Given the description of an element on the screen output the (x, y) to click on. 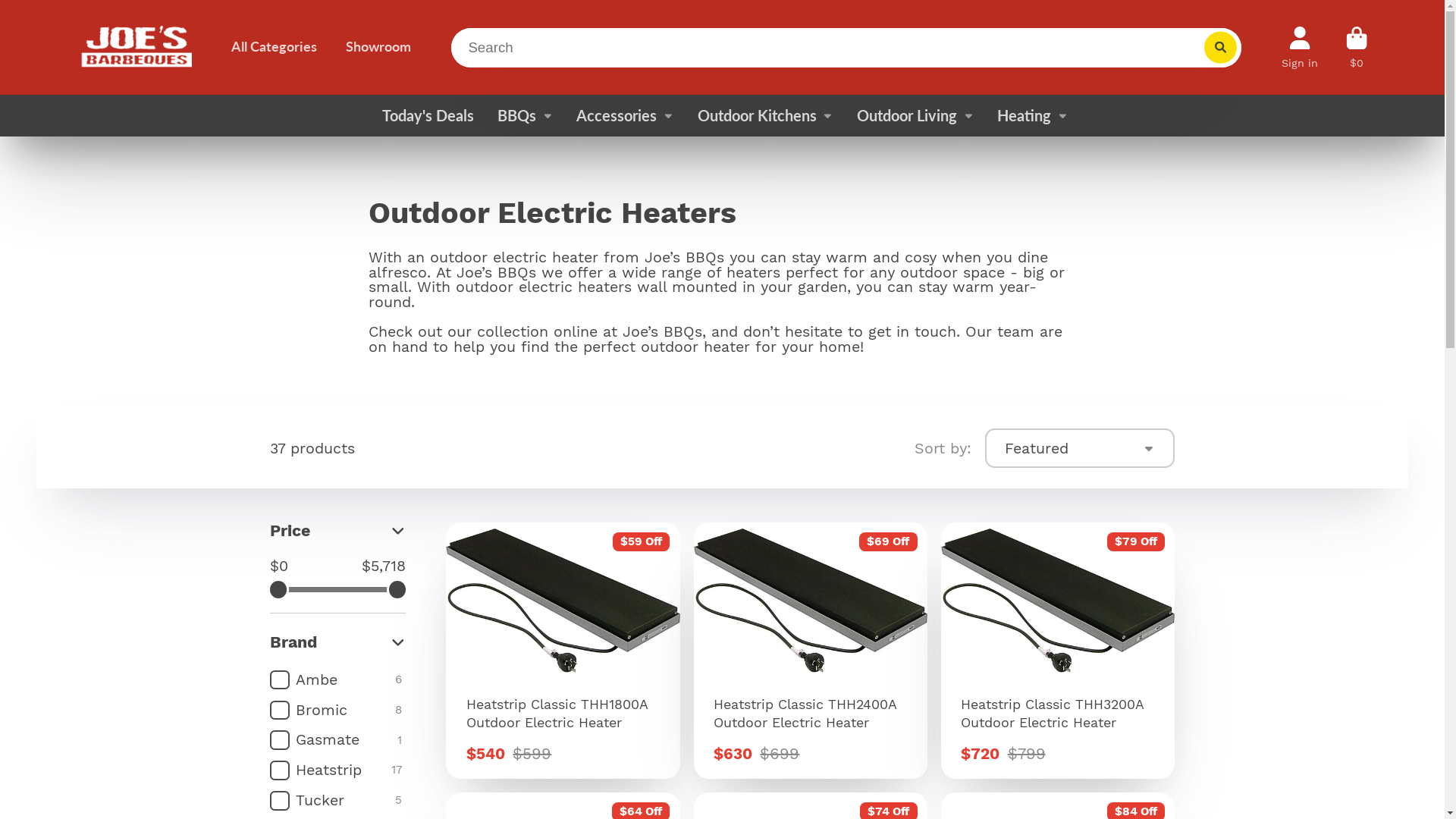
Heatstrip Classic THH1800A Outdoor Electric Heater Element type: text (562, 650)
Today's Deals Element type: text (424, 115)
Outdoor Kitchens Element type: text (765, 115)
BBQs Element type: text (525, 115)
Showroom Element type: text (375, 47)
Cart Element type: text (1356, 47)
Heatstrip Classic THH3200A Outdoor Electric Heater Element type: text (1057, 650)
Account Element type: text (1299, 47)
Outdoor Living Element type: text (915, 115)
Heatstrip Classic THH2400A Outdoor Electric Heater Element type: text (810, 650)
Accessories Element type: text (625, 115)
Logo Element type: text (137, 46)
Heating Element type: text (1032, 115)
